Given the description of an element on the screen output the (x, y) to click on. 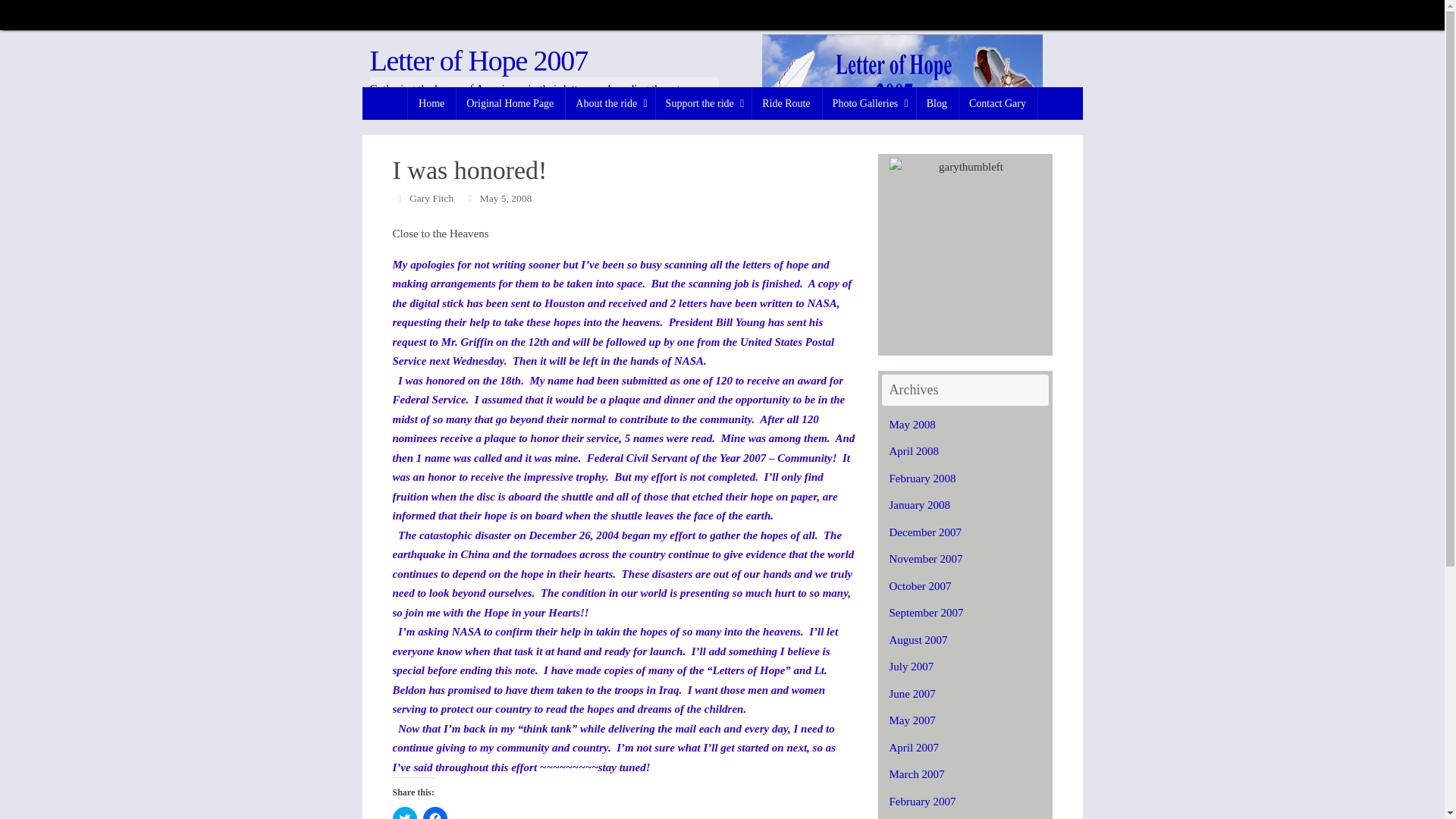
Date (470, 197)
September 2007 (925, 612)
May 2008 (911, 424)
Support the ride (703, 102)
Blog (936, 102)
Home (431, 102)
December 2007 (924, 532)
Letter of Hope 2007 (478, 60)
February 2008 (921, 478)
August 2007 (917, 639)
